Given the description of an element on the screen output the (x, y) to click on. 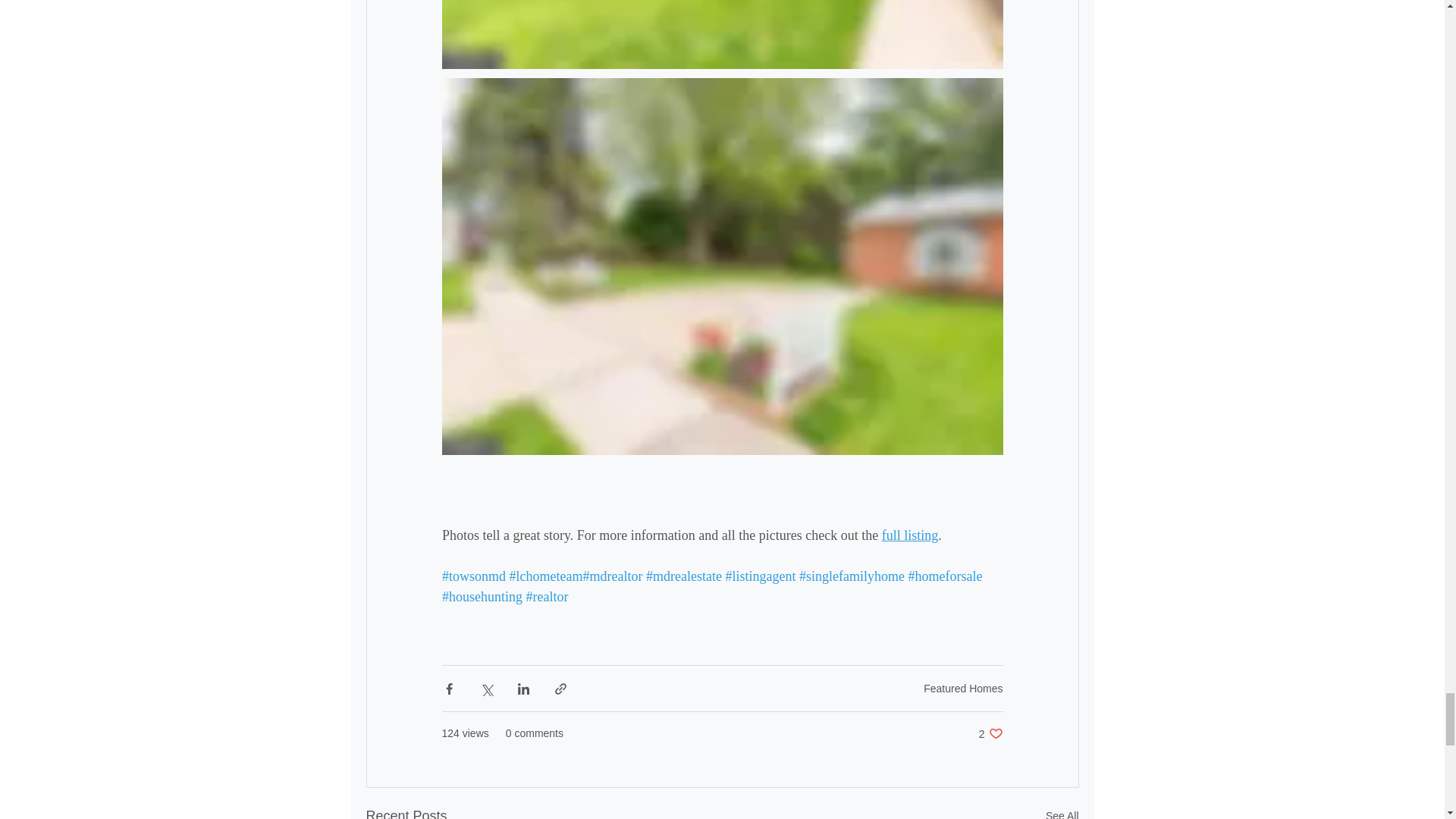
full listing (908, 534)
Featured Homes (963, 688)
See All (990, 733)
